Given the description of an element on the screen output the (x, y) to click on. 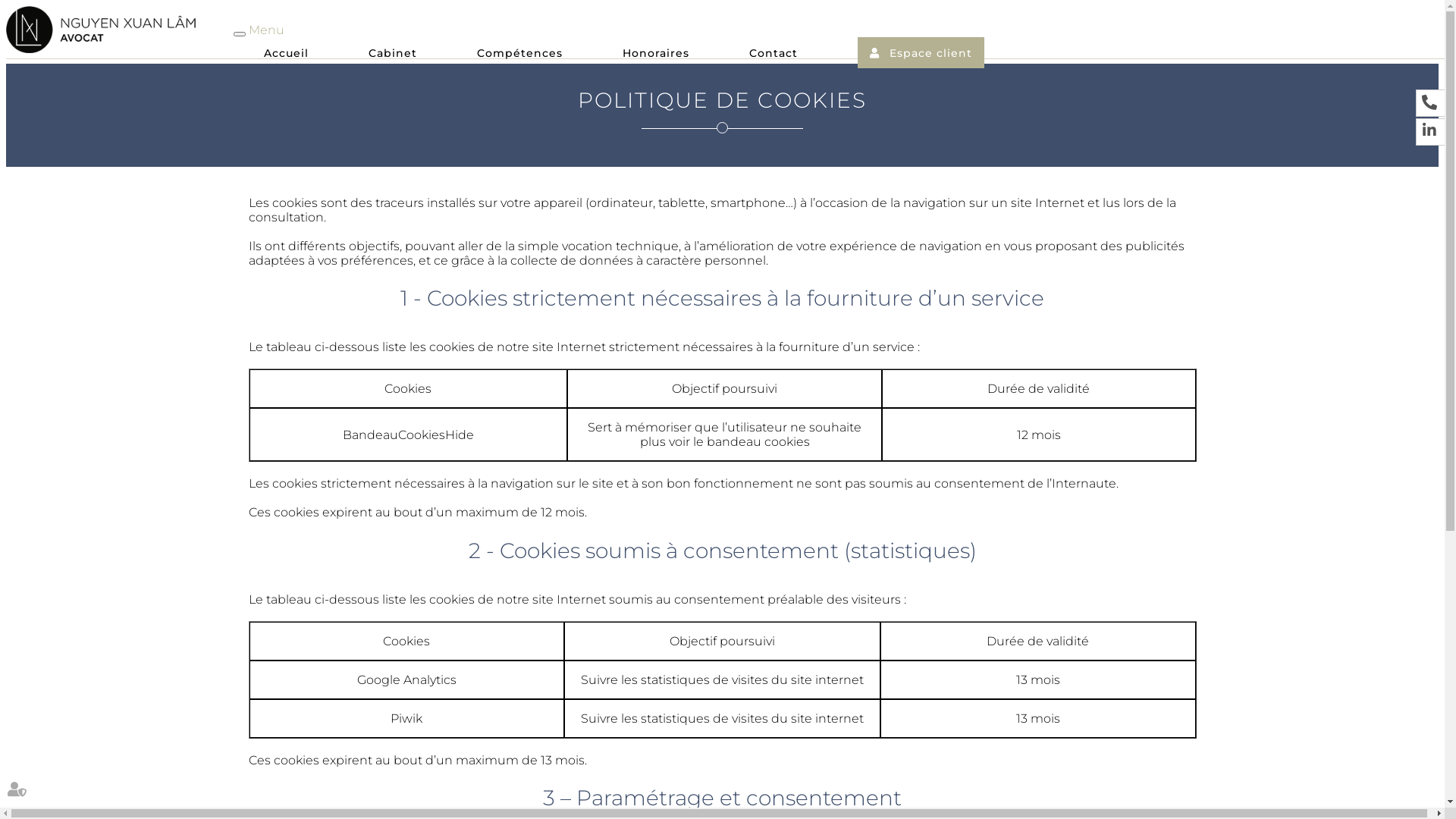
Menu Element type: text (266, 29)
Espace client Element type: text (920, 52)
Ouvrir le menu Element type: text (239, 33)
Contact Element type: text (773, 55)
Cabinet Element type: text (392, 55)
Honoraires Element type: text (655, 55)
Accueil Element type: text (285, 55)
